Given the description of an element on the screen output the (x, y) to click on. 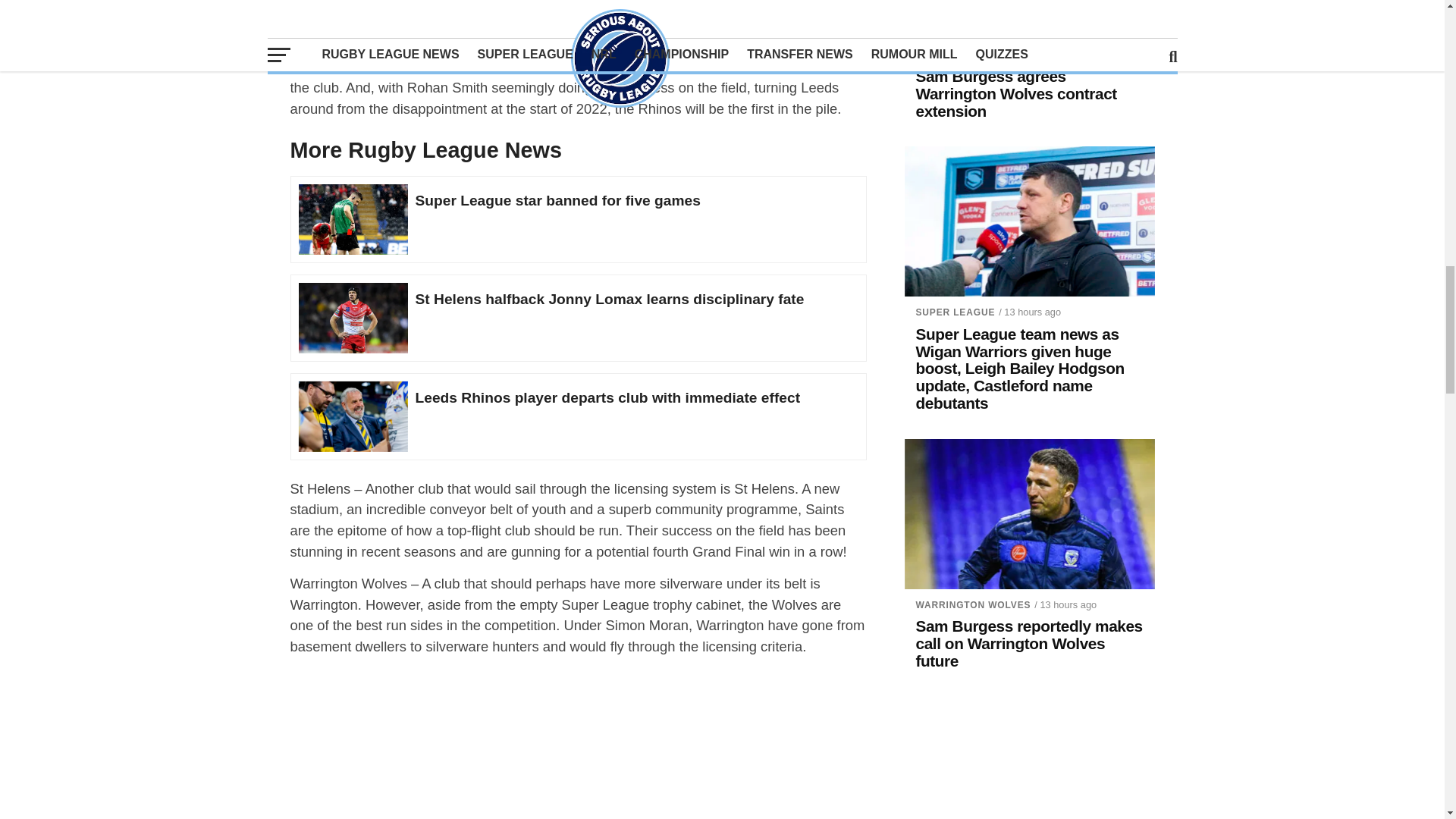
Leeds Rhinos player departs club with immediate effect (352, 412)
Super League star banned for five games (352, 215)
St Helens halfback Jonny Lomax learns disciplinary fate (352, 313)
